Given the description of an element on the screen output the (x, y) to click on. 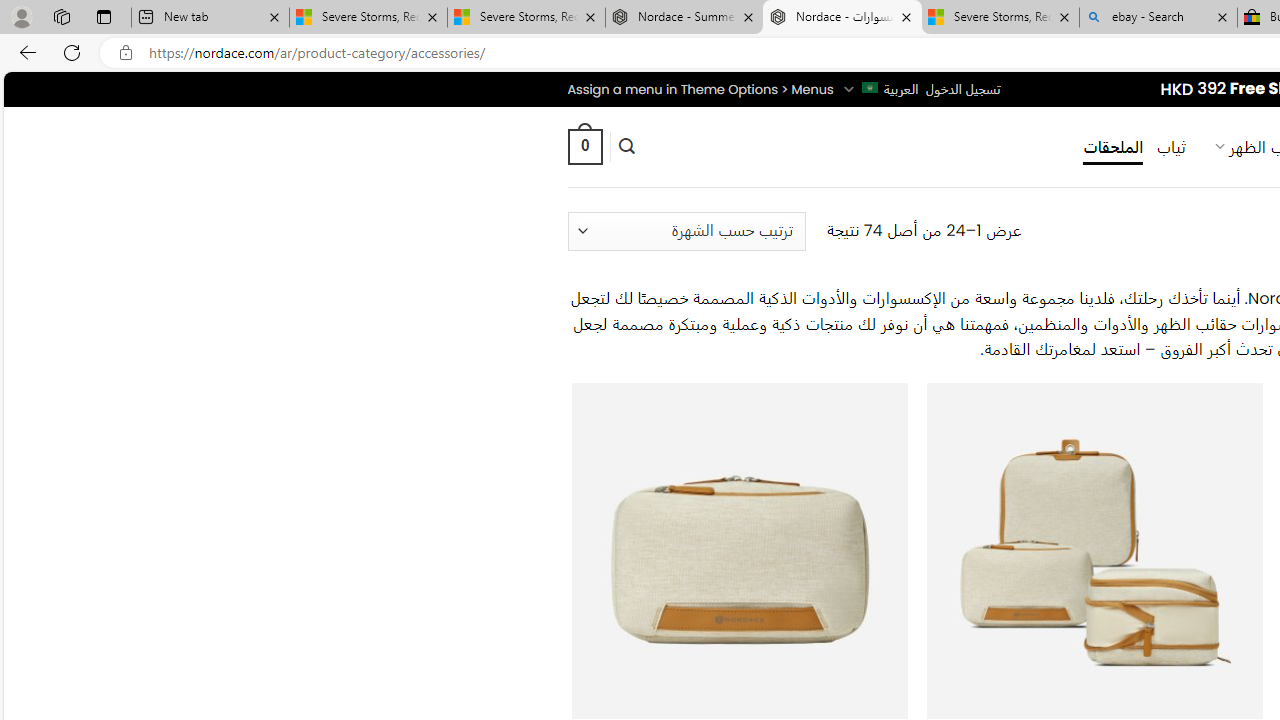
  0   (584, 146)
Assign a menu in Theme Options > Menus (700, 89)
